Given the description of an element on the screen output the (x, y) to click on. 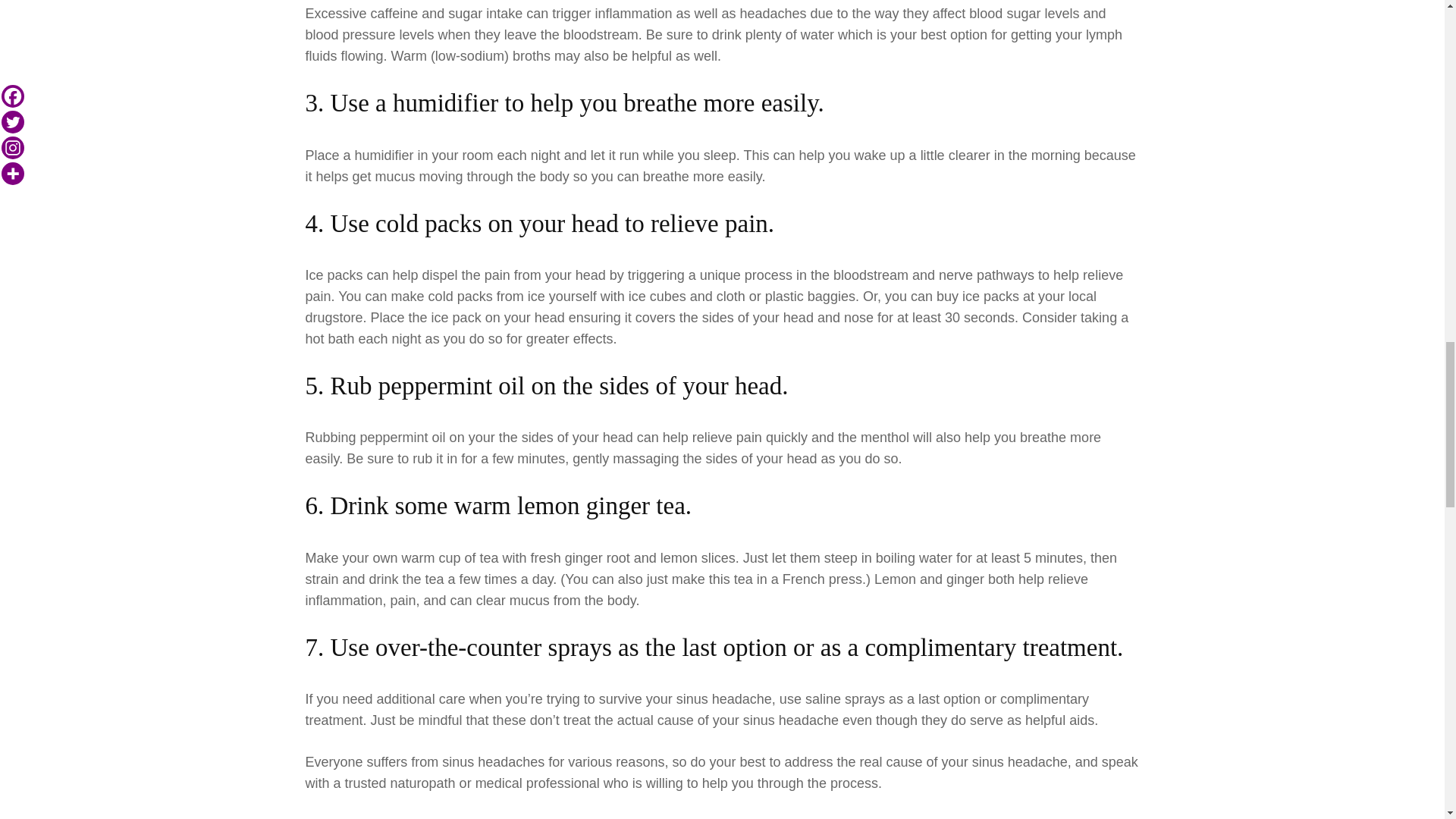
check out these options (778, 818)
